Given the description of an element on the screen output the (x, y) to click on. 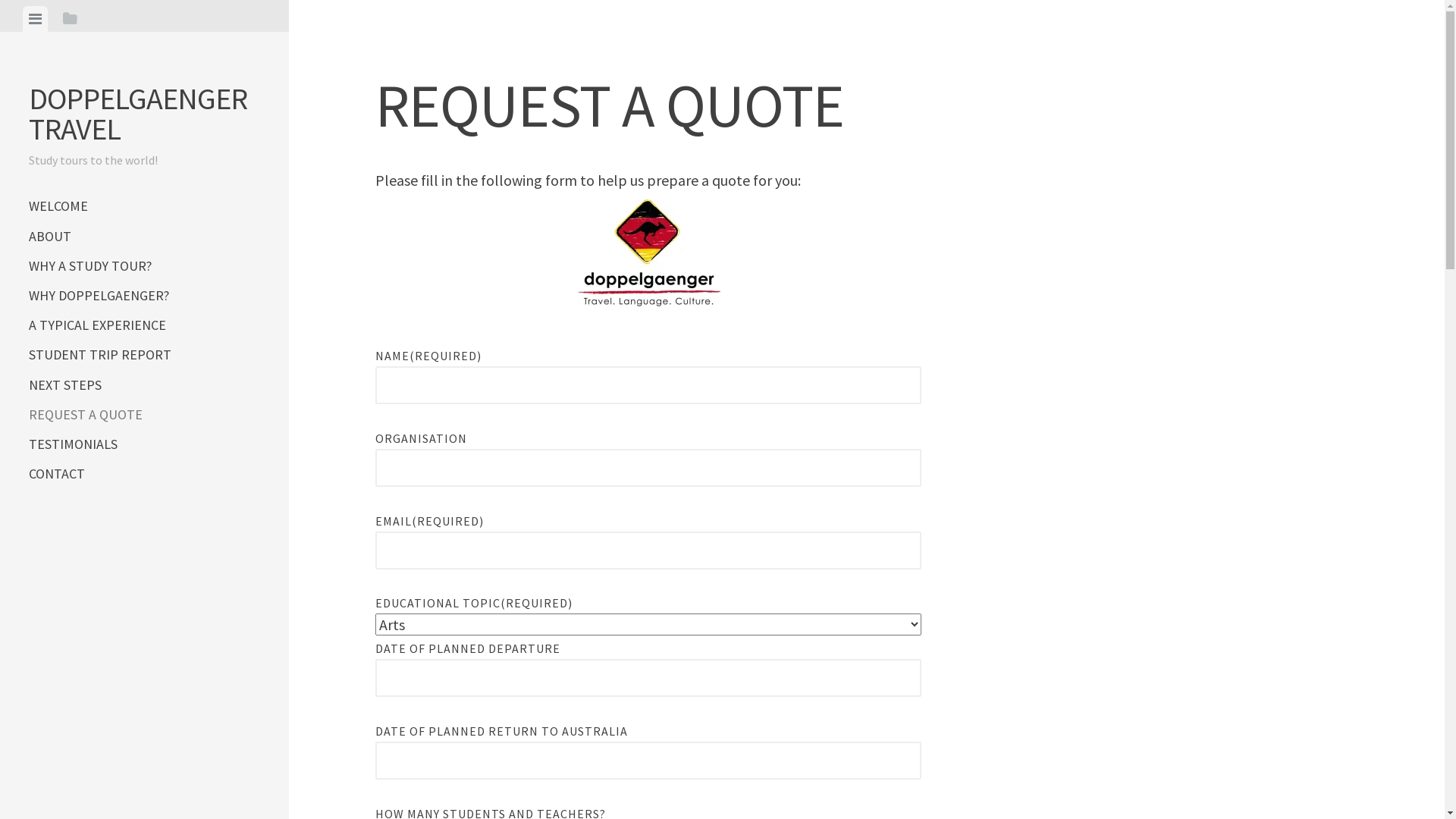
WHY DOPPELGAENGER? Element type: text (144, 295)
REQUEST A QUOTE Element type: text (144, 414)
WHY A STUDY TOUR? Element type: text (144, 265)
A TYPICAL EXPERIENCE Element type: text (144, 324)
NEXT STEPS Element type: text (144, 384)
ABOUT Element type: text (144, 236)
DOPPELGAENGER TRAVEL Element type: text (137, 113)
View sidebar Element type: text (69, 18)
View menu Element type: text (34, 18)
CONTACT Element type: text (144, 473)
STUDENT TRIP REPORT Element type: text (144, 354)
TESTIMONIALS Element type: text (144, 443)
WELCOME Element type: text (144, 205)
